Given the description of an element on the screen output the (x, y) to click on. 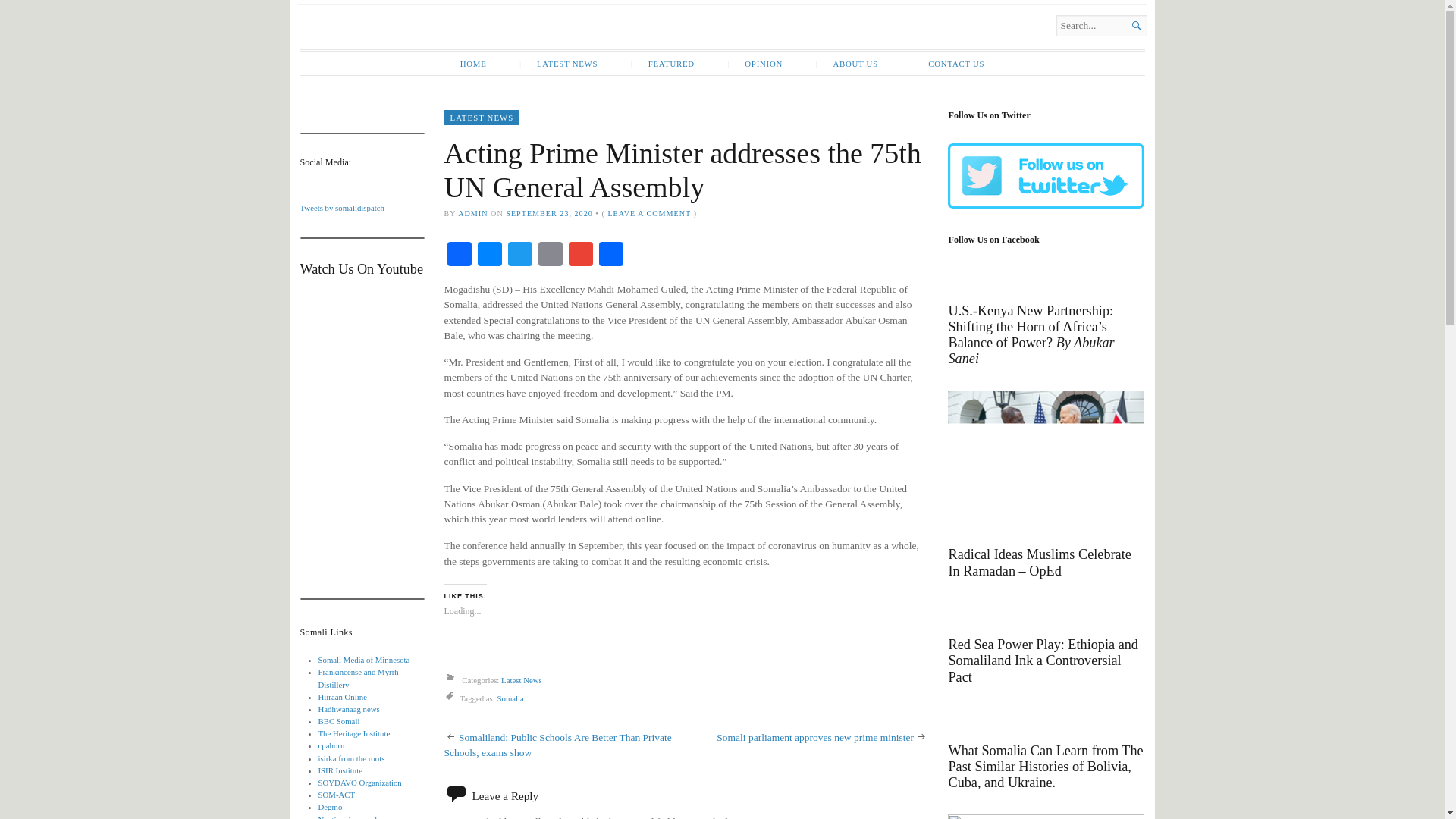
SOM-ACT (336, 794)
Messenger (489, 255)
Hiiraan Online (342, 696)
Email (550, 255)
View all posts by admin (472, 213)
SOYDAVO Organization (359, 782)
CONTACT US (946, 63)
Somali Media of Minnesota (364, 659)
ABOUT US (845, 63)
Tweets by somalidispatch (341, 207)
The Heritage Institute (354, 732)
BBC Somali (338, 720)
Degmo (330, 806)
Naptime is sacred (347, 816)
